Given the description of an element on the screen output the (x, y) to click on. 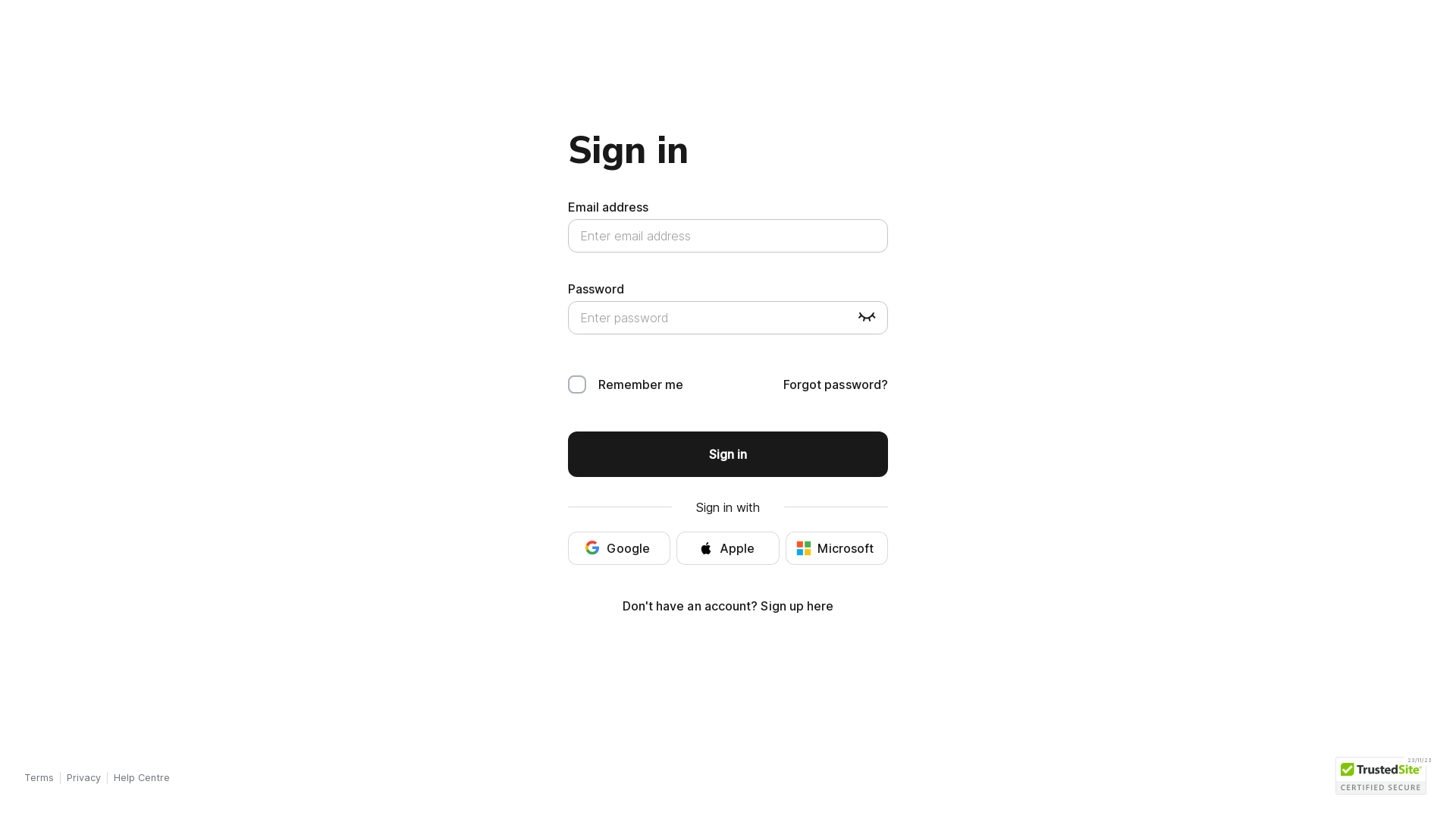
23/11/23 Element type: text (1380, 775)
Forgot password? Element type: text (835, 384)
Apple Element type: text (727, 547)
Microsoft Element type: text (836, 547)
Reveal password Element type: hover (866, 317)
Help Centre Element type: text (141, 777)
Privacy Element type: text (83, 777)
Sign in Element type: text (727, 453)
Sign up here Element type: text (796, 605)
Terms Element type: text (38, 777)
Google Element type: text (618, 547)
